Given the description of an element on the screen output the (x, y) to click on. 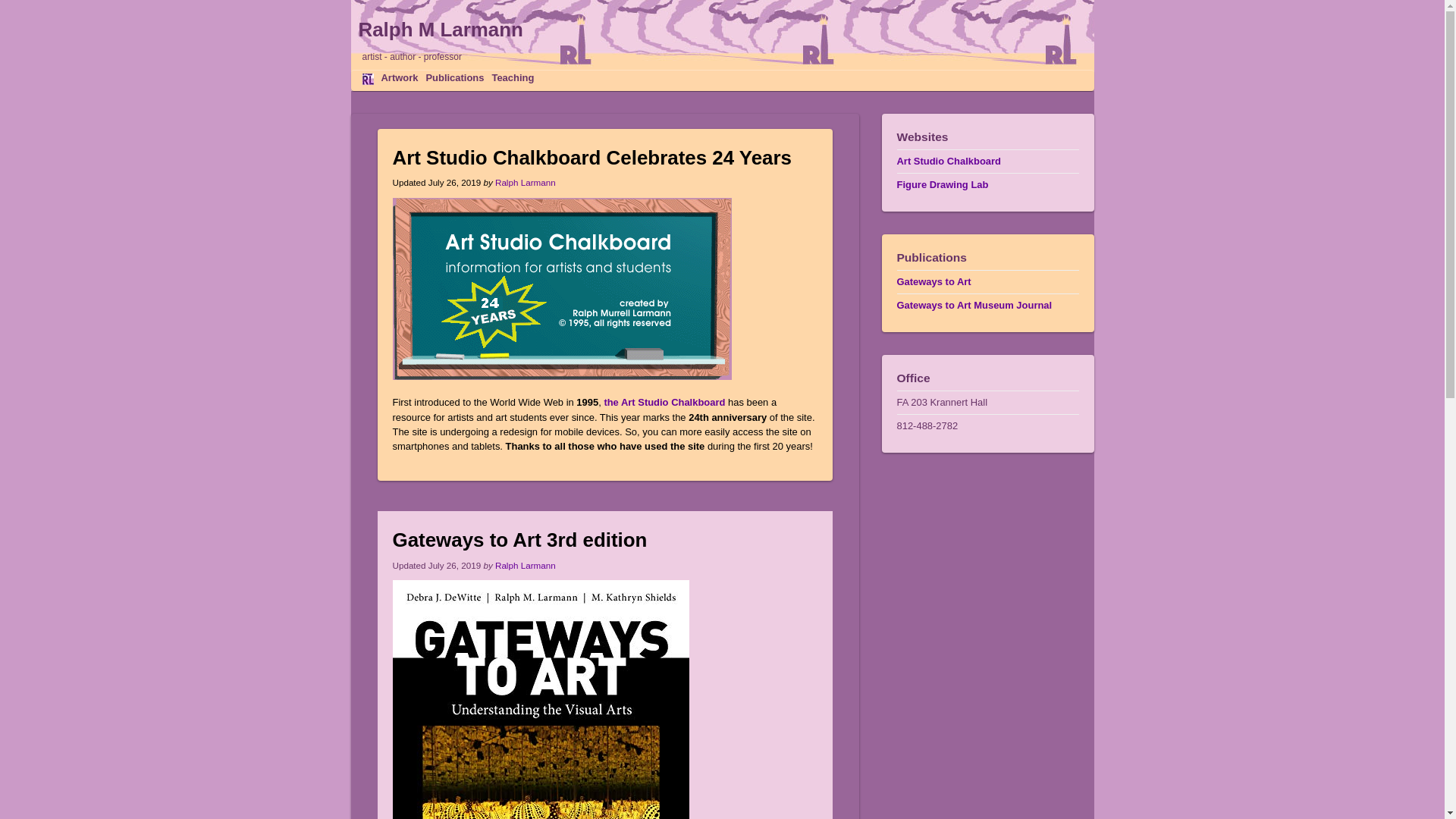
Gateways Museum Journal (973, 305)
Art Studio Chalkboard (664, 401)
Ralph Larmann (525, 565)
Gateways to Art (933, 281)
Ralph Larmann (525, 182)
Publications (987, 257)
Websites (987, 136)
Gateways to Art (933, 281)
Art Studio Chalkboard (948, 161)
Gateways to Art Museum Journal (973, 305)
Teaching (512, 77)
Art Studio Chalkboard (948, 161)
Figure Drawing Lab (942, 184)
Art Studio Chalkboard Celebrates 24 Years (592, 157)
Office (987, 378)
